Given the description of an element on the screen output the (x, y) to click on. 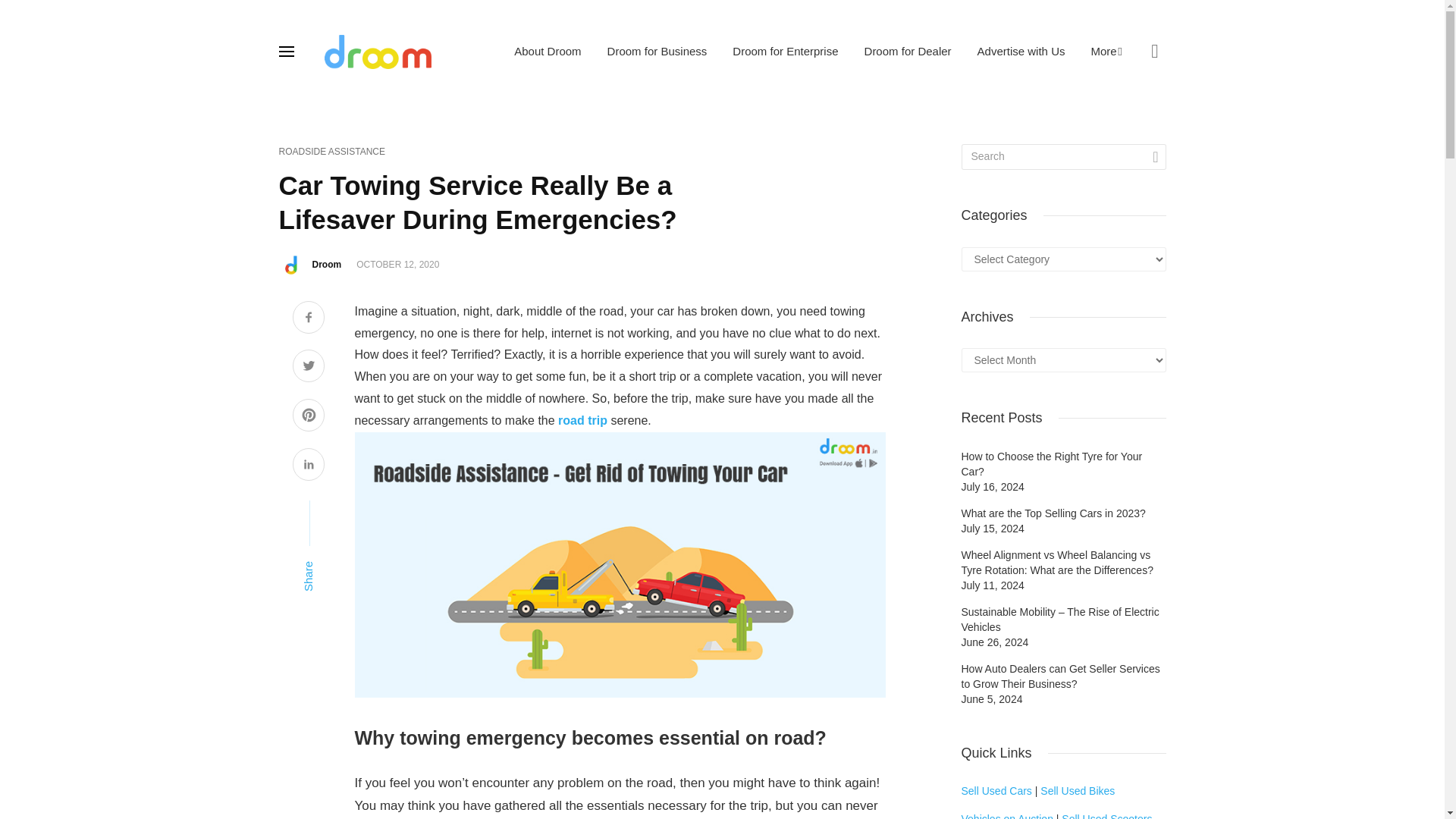
Advertise with Us (1020, 51)
Droom for Business (657, 51)
October 12, 2020 at 10:04 am (397, 264)
ROADSIDE ASSISTANCE (332, 151)
Sell Bike for Free (1078, 790)
Sell Car for Free (996, 790)
road trip (582, 420)
Droom for Enterprise (784, 51)
Droom (327, 264)
Share on Facebook (308, 319)
Droom for Dealer (907, 51)
Share on Linkedin (308, 465)
Sell Used Scooters (1106, 816)
About Droom (547, 51)
Car Auction Online (1006, 816)
